Given the description of an element on the screen output the (x, y) to click on. 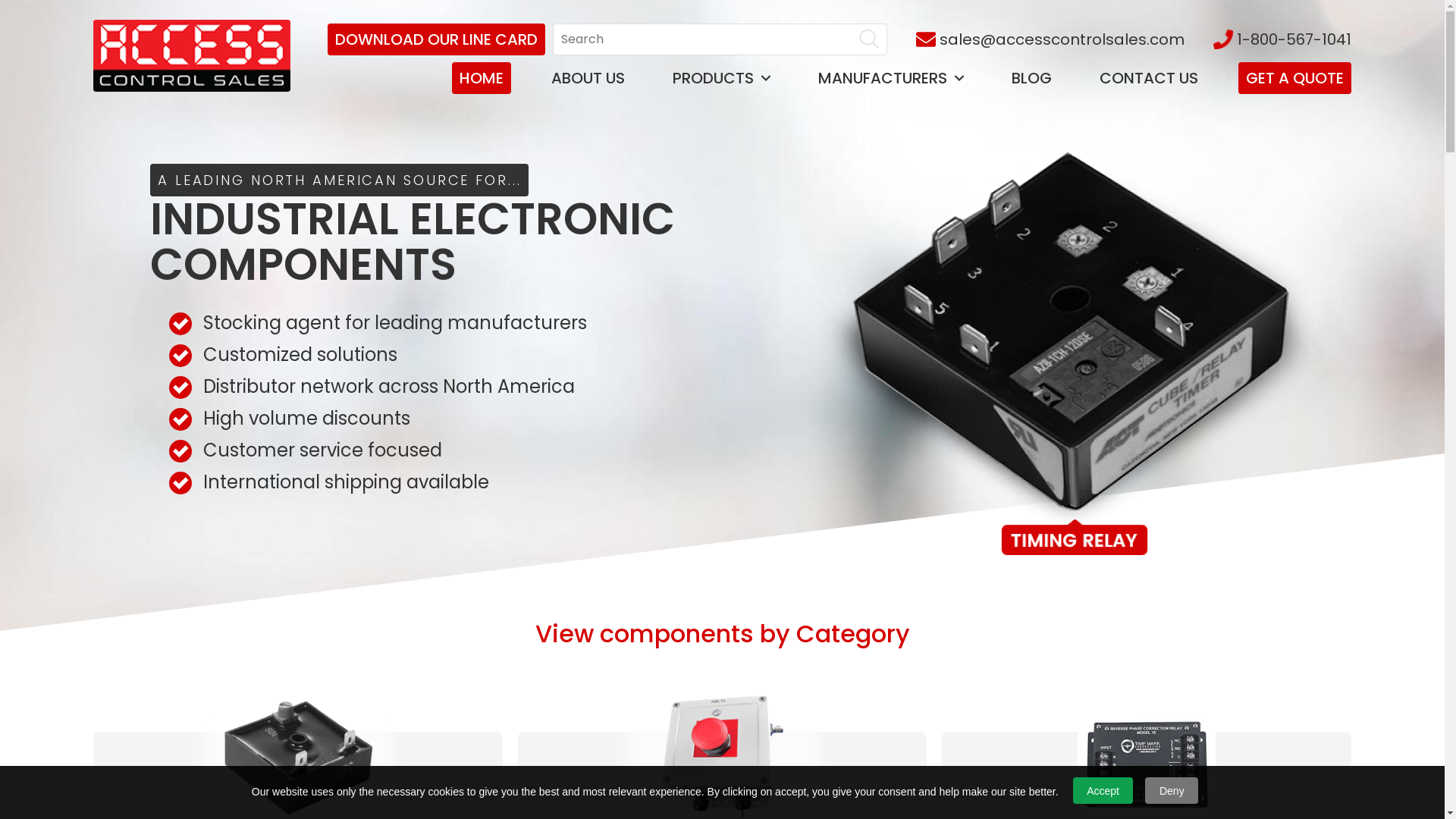
BLOG Element type: text (1031, 78)
CONTACT US Element type: text (1148, 78)
GET A QUOTE Element type: text (1294, 78)
Access Control Sales Element type: hover (191, 58)
sales@accesscontrolsales.com Element type: text (1050, 38)
MANUFACTURERS Element type: text (890, 78)
HOME Element type: text (481, 78)
PRODUCTS Element type: text (721, 78)
ABOUT US Element type: text (587, 78)
DOWNLOAD OUR LINE CARD Element type: text (436, 38)
1-800-567-1041 Element type: text (1282, 38)
